Given the description of an element on the screen output the (x, y) to click on. 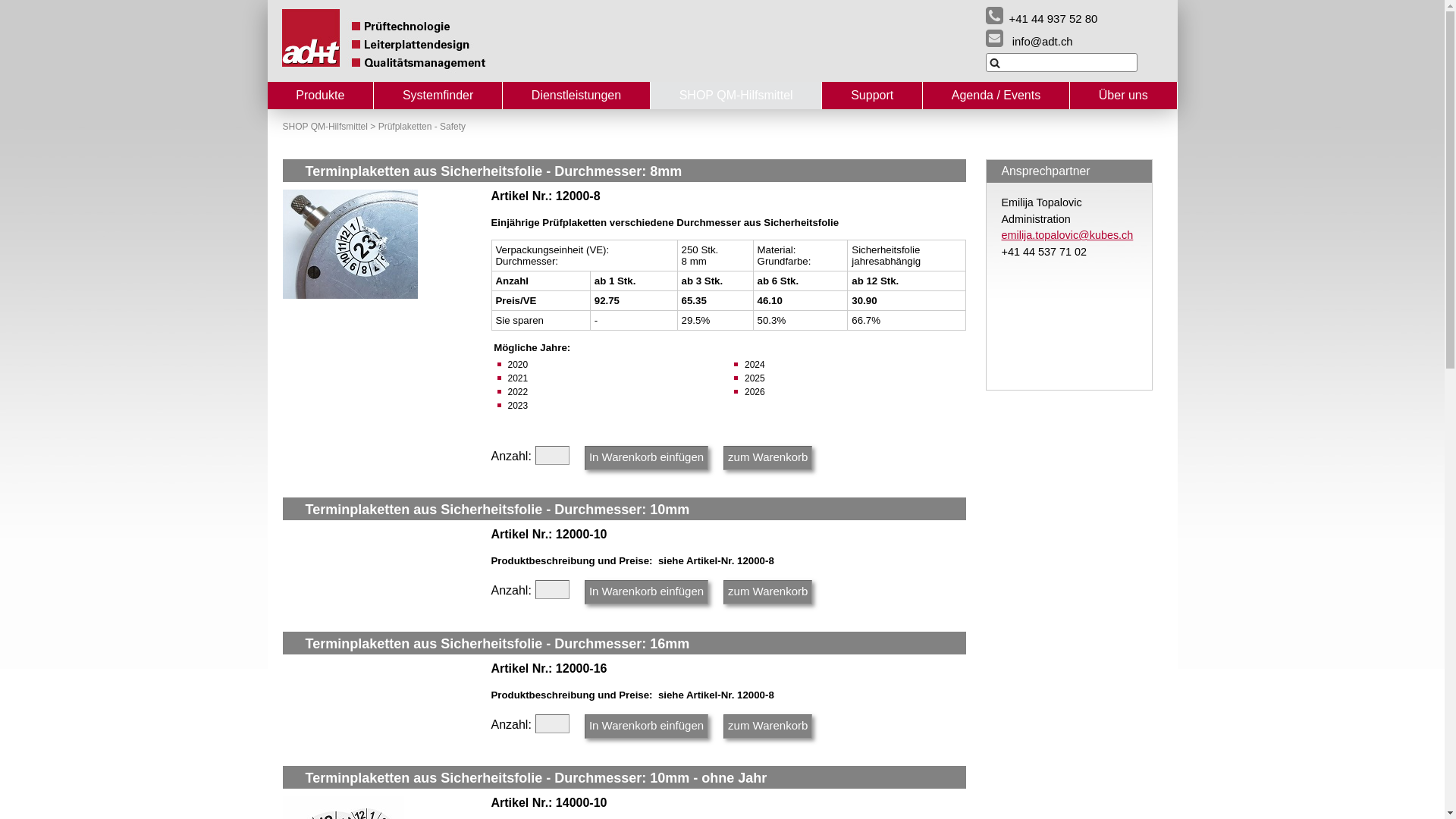
zum Warenkorb Element type: text (767, 726)
+41 44 937 52 80 Element type: text (1041, 15)
zum Warenkorb Element type: text (767, 592)
SHOP QM-Hilfsmittel Element type: text (736, 94)
info@adt.ch Element type: text (1029, 38)
emilija.topalovic@kubes.ch Element type: text (1066, 235)
zum Warenkorb Element type: text (767, 457)
